Given the description of an element on the screen output the (x, y) to click on. 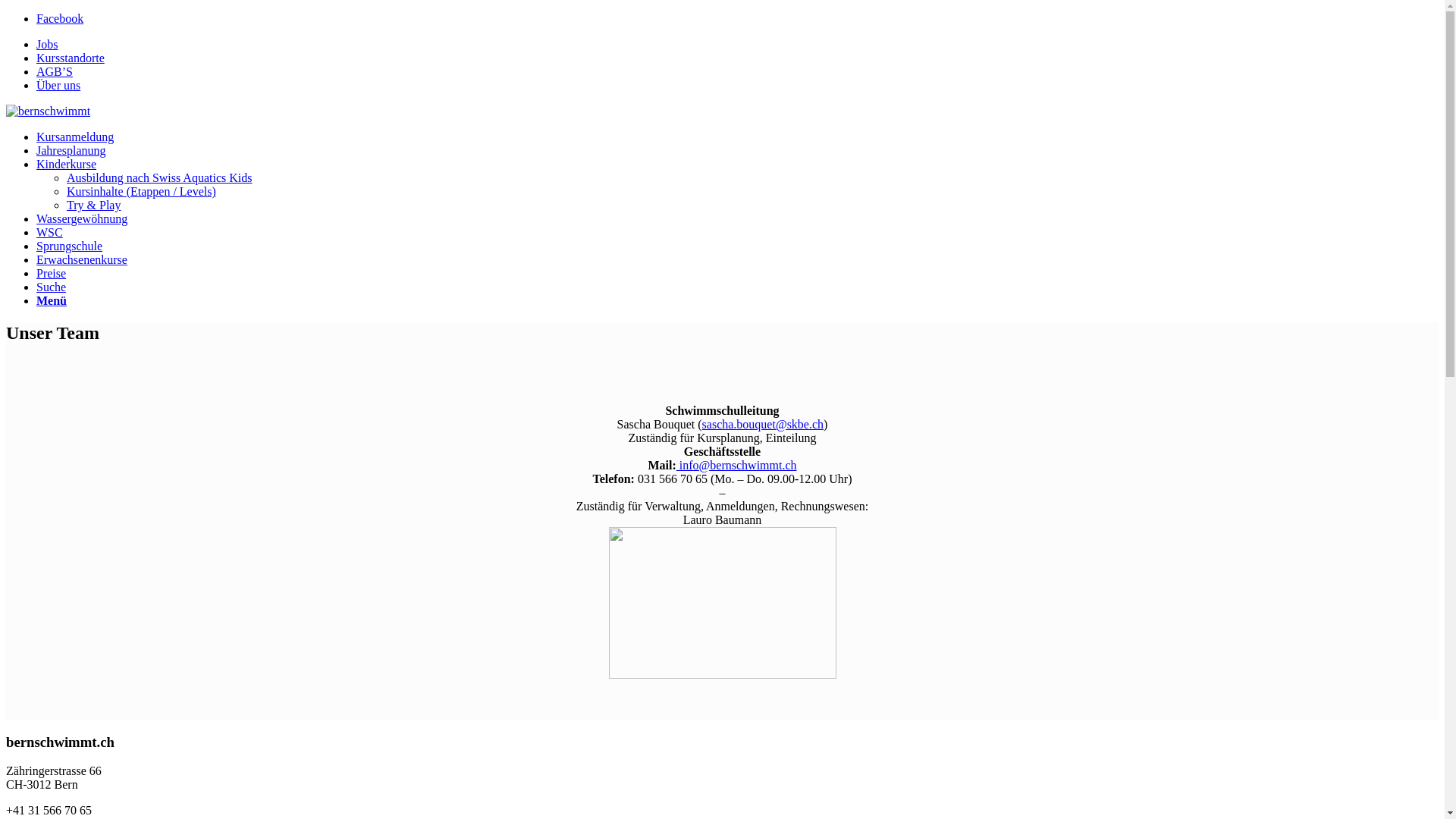
Kursstandorte Element type: text (70, 57)
Erwachsenenkurse Element type: text (81, 259)
WSC Element type: text (49, 231)
Sprungschule Element type: text (69, 245)
Kinderkurse Element type: text (66, 163)
Kursanmeldung Element type: text (74, 136)
Jahresplanung Element type: text (71, 150)
Jobs Element type: text (46, 43)
Kursinhalte (Etappen / Levels) Element type: text (141, 191)
Try & Play Element type: text (93, 204)
Preise Element type: text (50, 272)
Ausbildung nach Swiss Aquatics Kids Element type: text (158, 177)
info@bernschwimmt.ch Element type: text (736, 464)
Suche Element type: text (50, 286)
sascha.bouquet@skbe.ch Element type: text (762, 423)
Facebook Element type: text (59, 18)
